Given the description of an element on the screen output the (x, y) to click on. 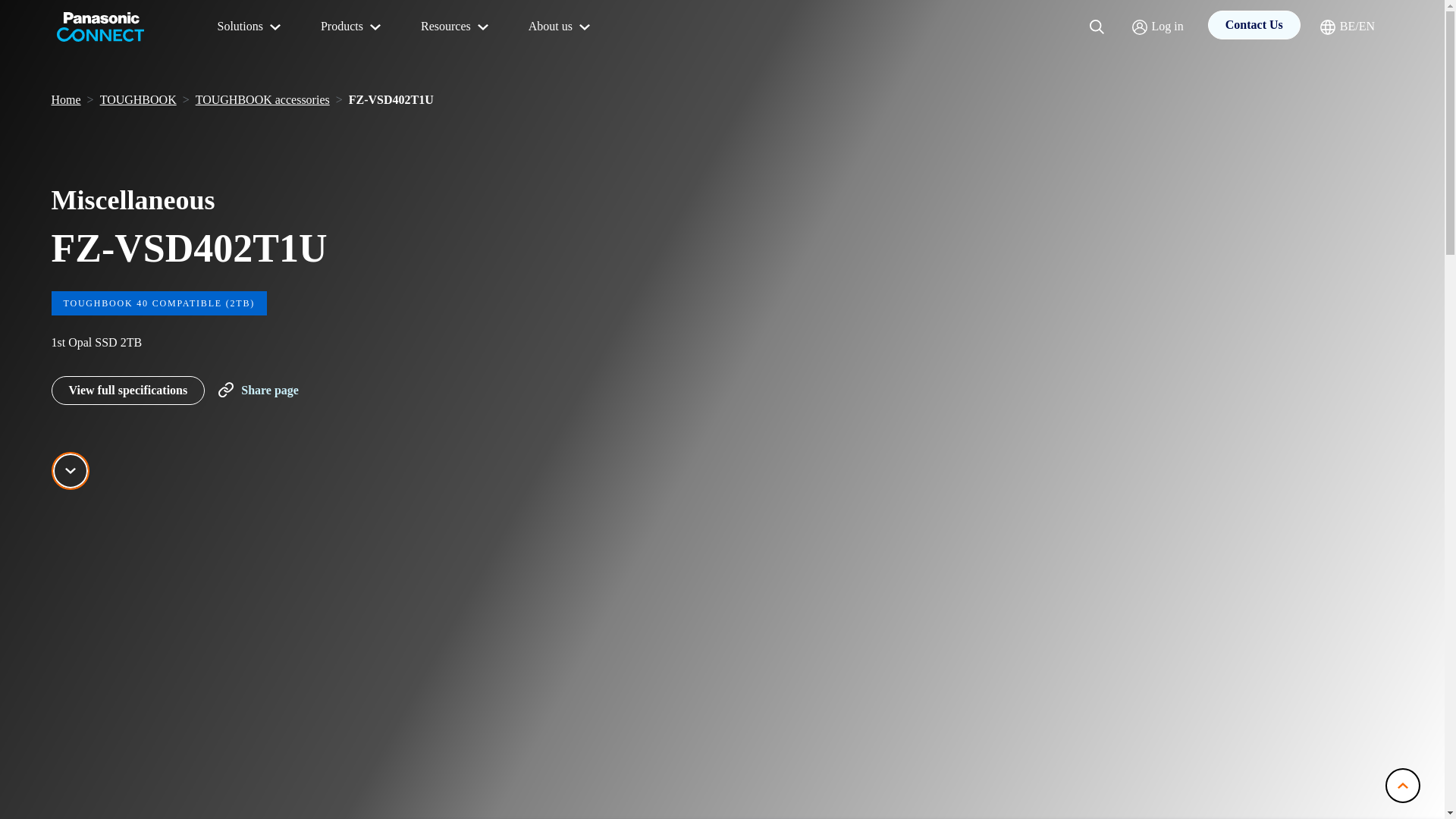
Resources (455, 26)
Solutions (250, 26)
About us (560, 26)
Products (352, 26)
